Given the description of an element on the screen output the (x, y) to click on. 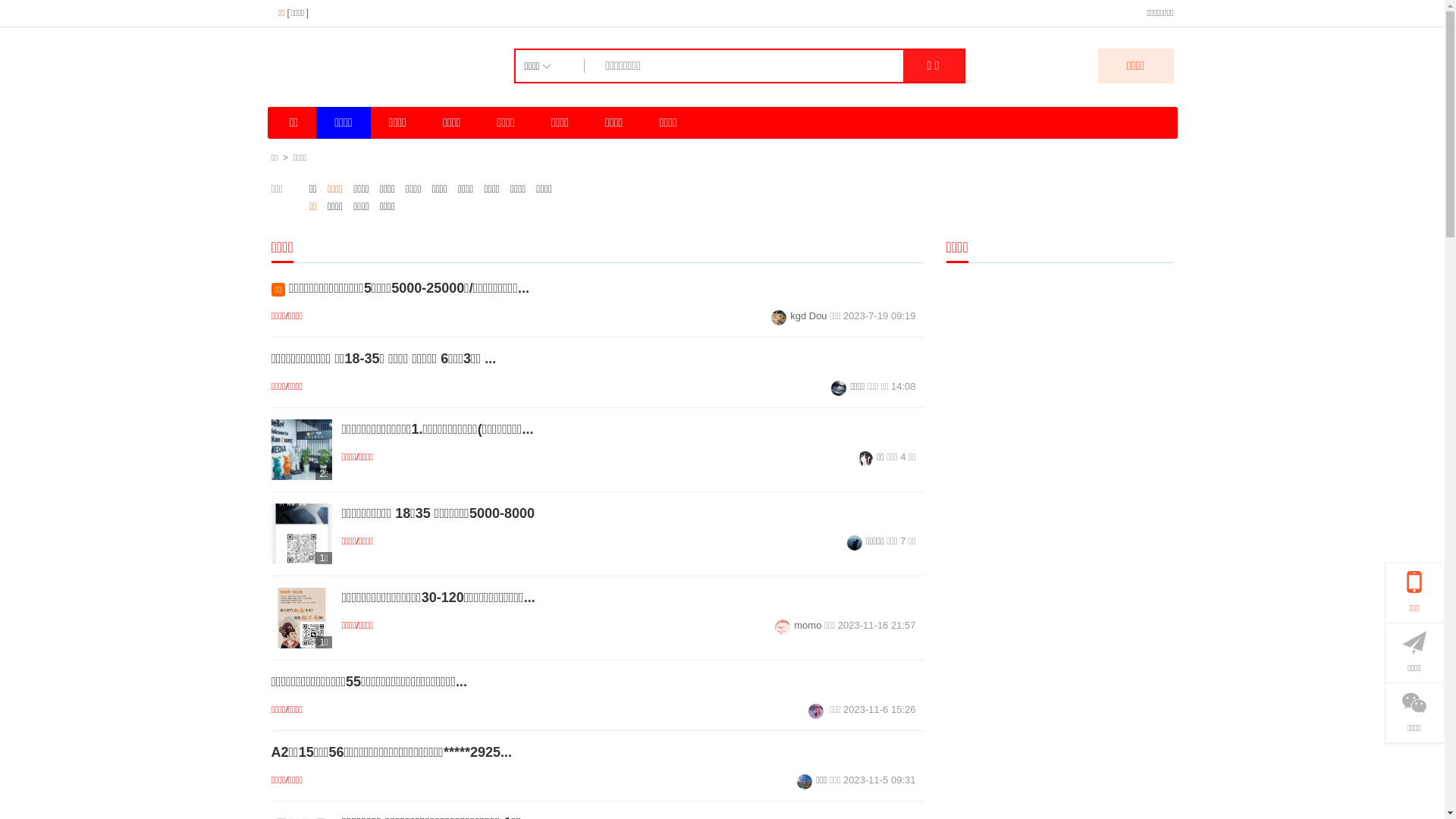
kgd Dou Element type: text (798, 315)
momo Element type: text (798, 624)
